Given the description of an element on the screen output the (x, y) to click on. 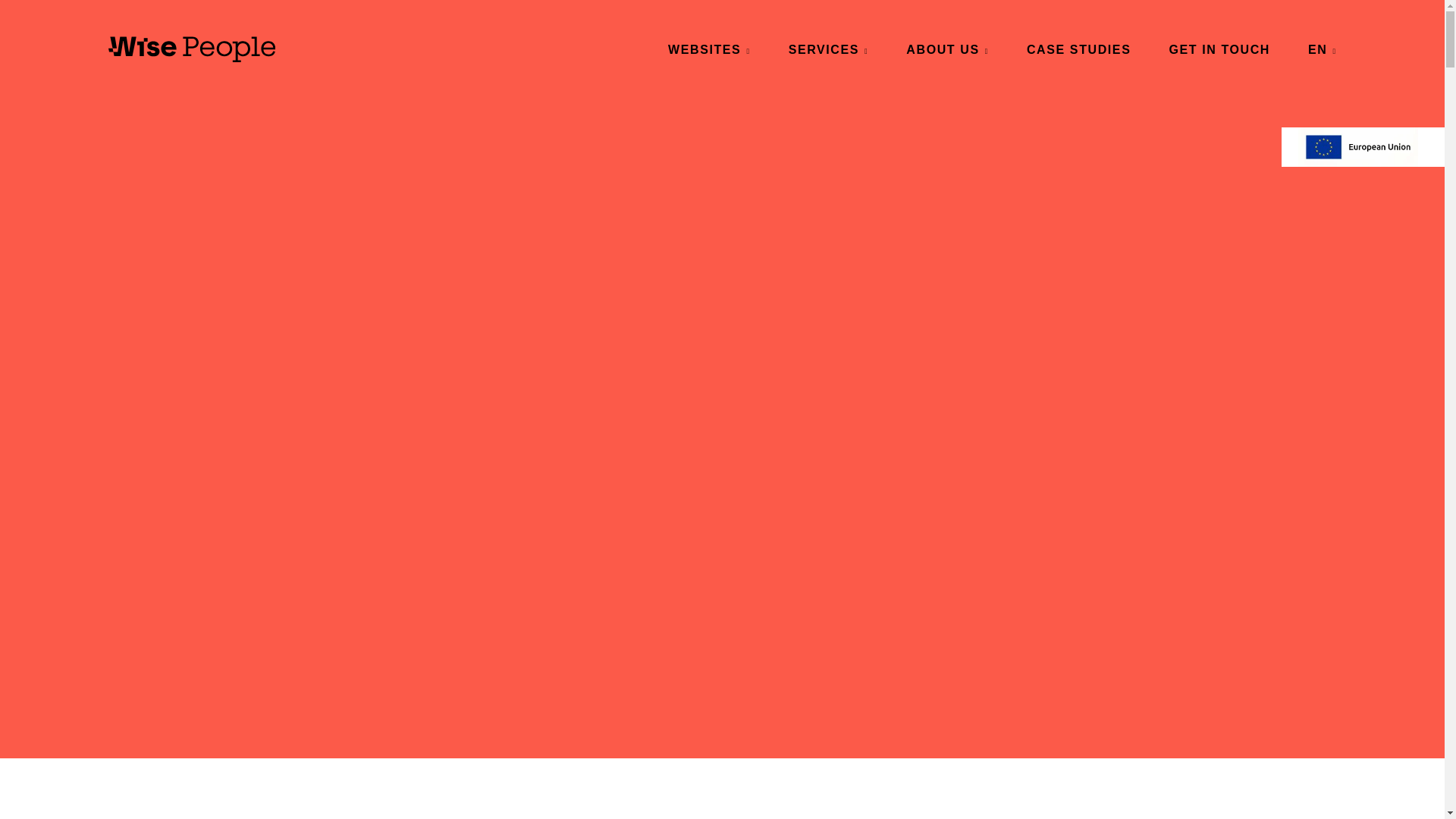
ABOUT US (946, 48)
SERVICES (827, 48)
WEBSITES (709, 48)
CASE STUDIES (1078, 48)
GET IN TOUCH (1219, 48)
EN (1321, 48)
EN (1321, 48)
